Given the description of an element on the screen output the (x, y) to click on. 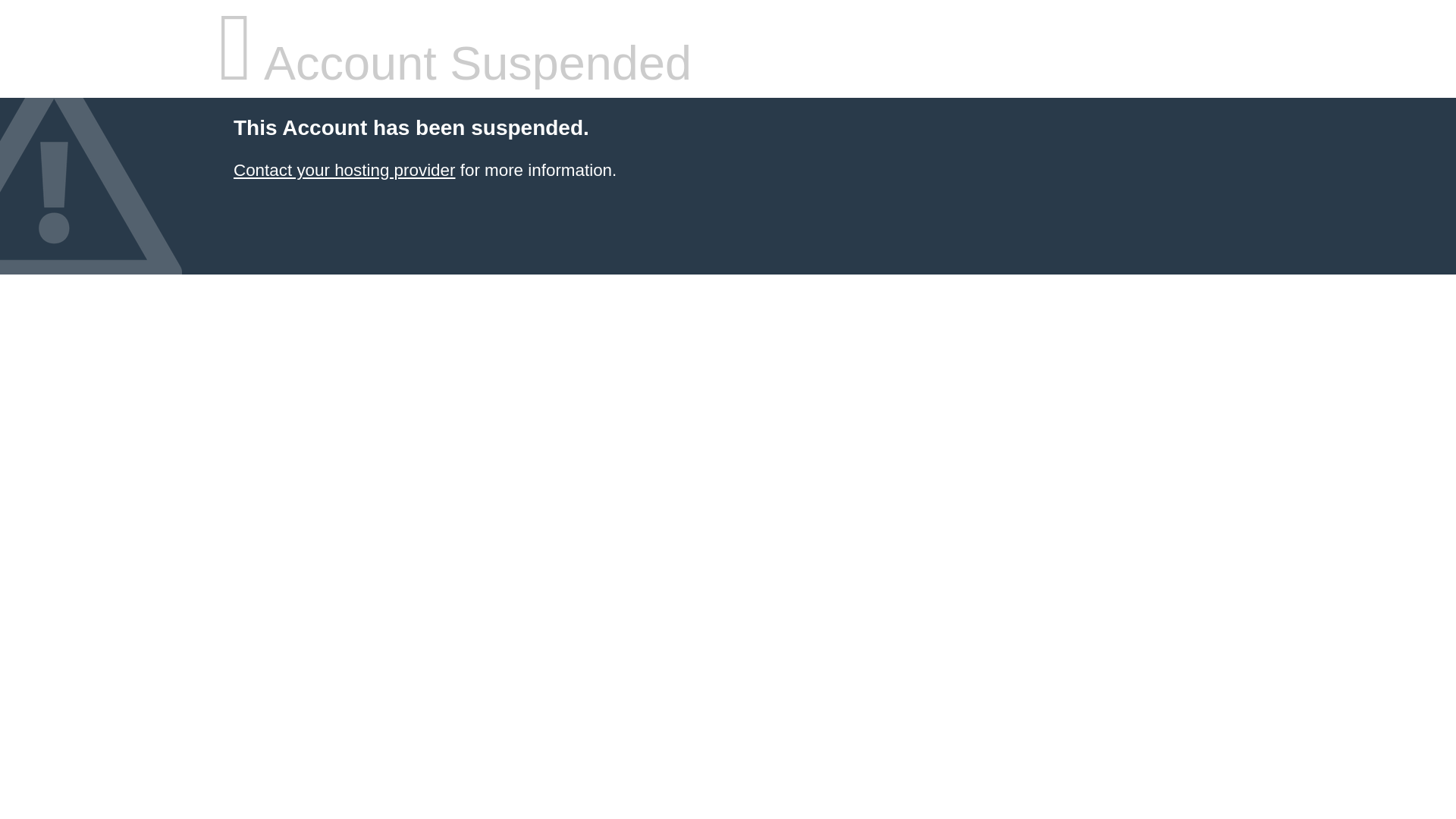
Contact your hosting provider (343, 169)
